Given the description of an element on the screen output the (x, y) to click on. 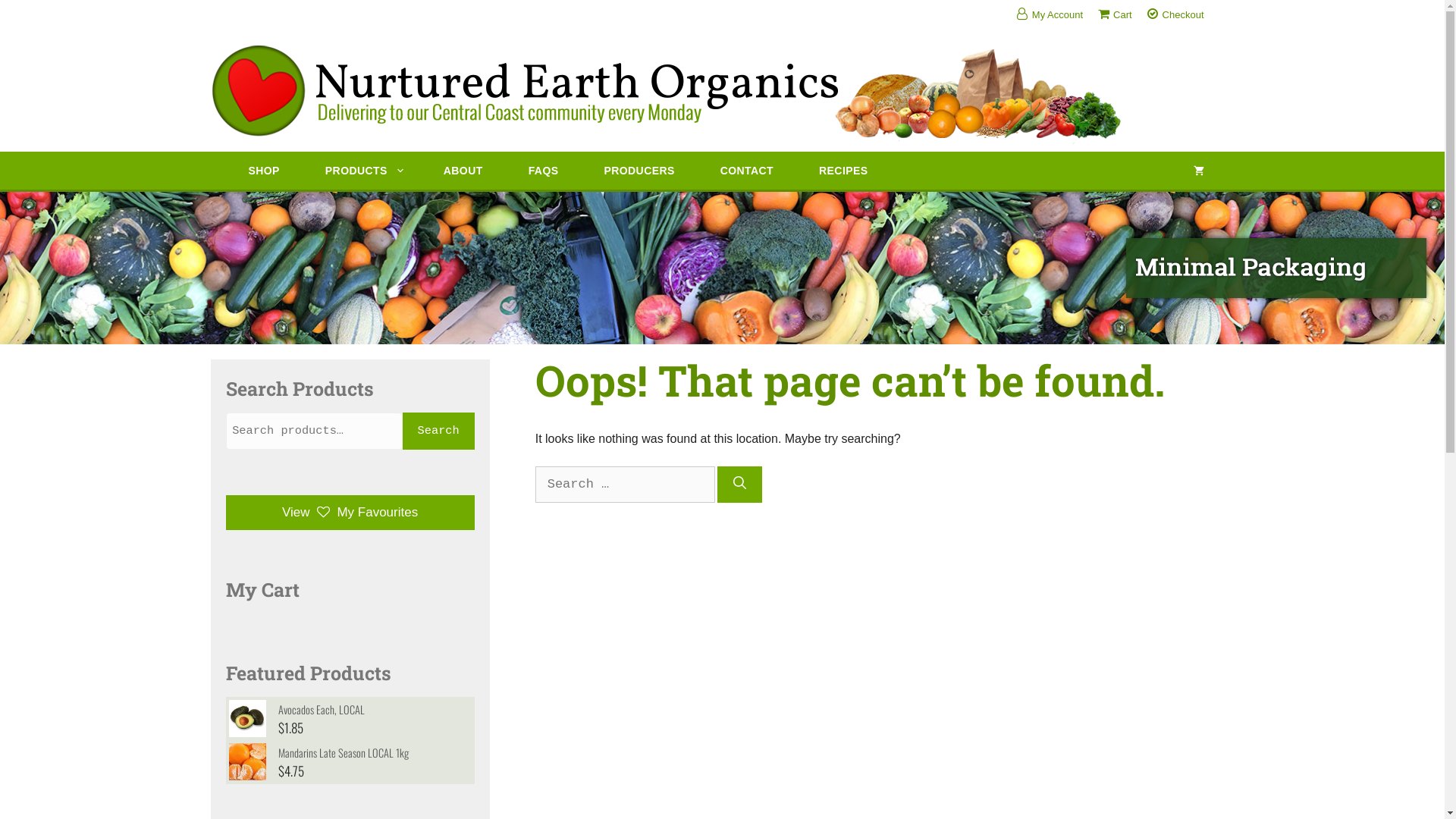
Mandarins Late Season LOCAL 1kg Element type: text (349, 752)
View    My Favourites Element type: text (349, 512)
SHOP Element type: text (263, 170)
PRODUCERS Element type: text (638, 170)
My Account Element type: text (1057, 15)
RECIPES Element type: text (843, 170)
CONTACT Element type: text (746, 170)
FAQS Element type: text (543, 170)
Search for: Element type: hover (625, 484)
Checkout Element type: text (1183, 15)
ABOUT Element type: text (462, 170)
View your shopping cart Element type: hover (1198, 170)
PRODUCTS Element type: text (361, 170)
Cart Element type: text (1122, 15)
Search Element type: text (438, 431)
Avocados Each, LOCAL Element type: text (349, 708)
Delivering Real Food to our Central Coast Community Element type: hover (1276, 267)
